Given the description of an element on the screen output the (x, y) to click on. 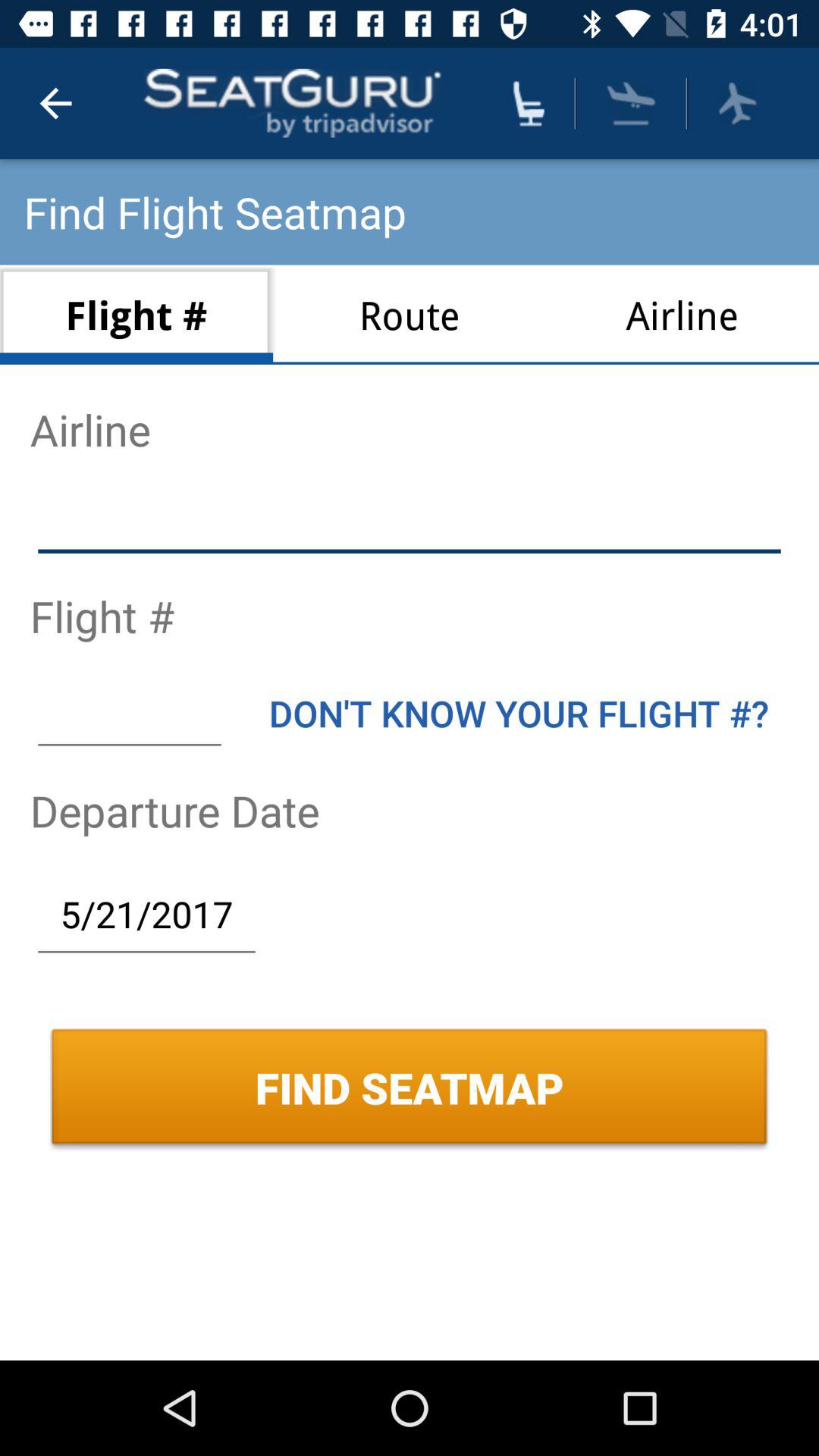
press the don t know (518, 712)
